Given the description of an element on the screen output the (x, y) to click on. 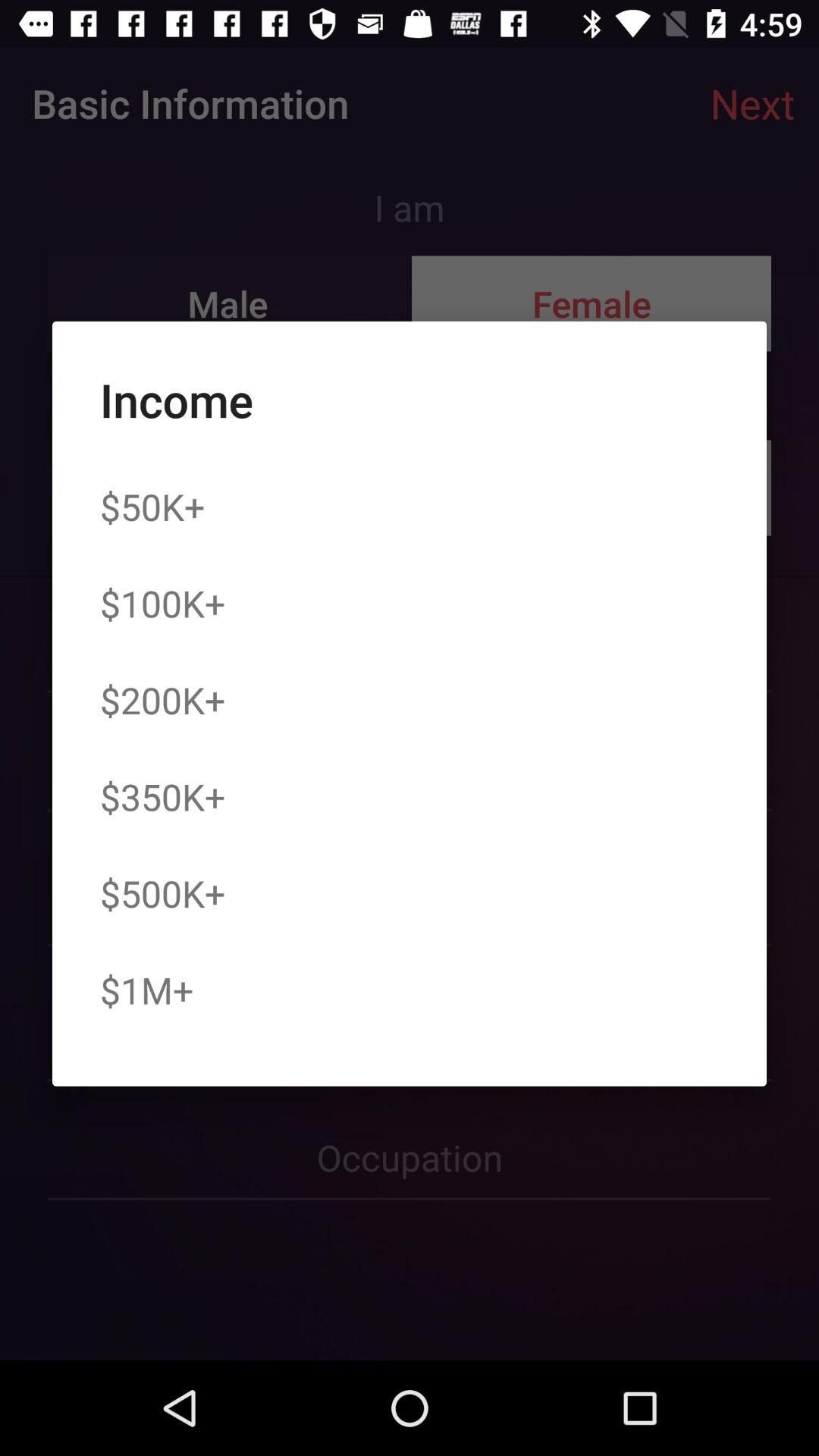
flip to $100k+ icon (162, 603)
